Given the description of an element on the screen output the (x, y) to click on. 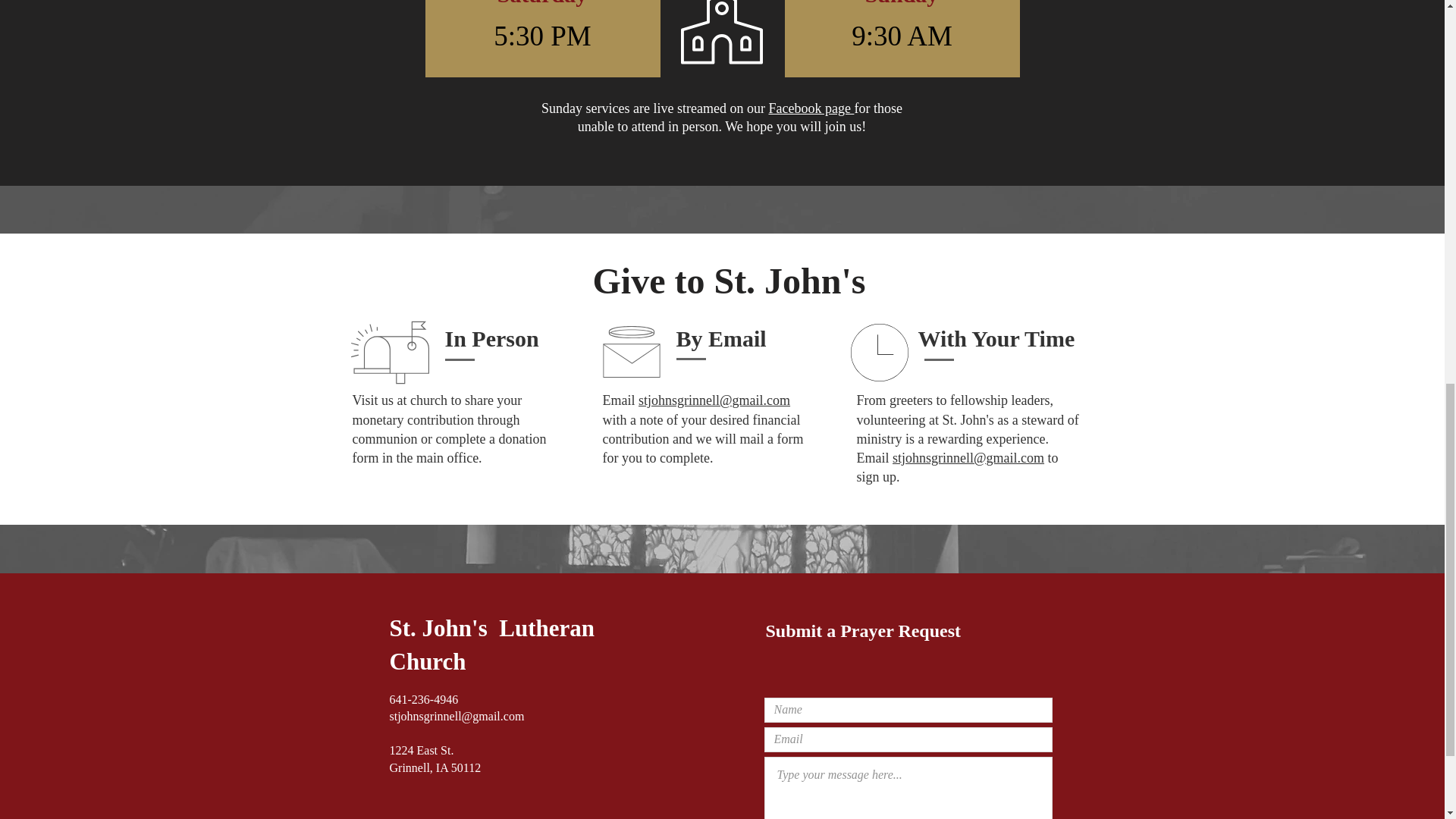
Facebook page (810, 108)
